Given the description of an element on the screen output the (x, y) to click on. 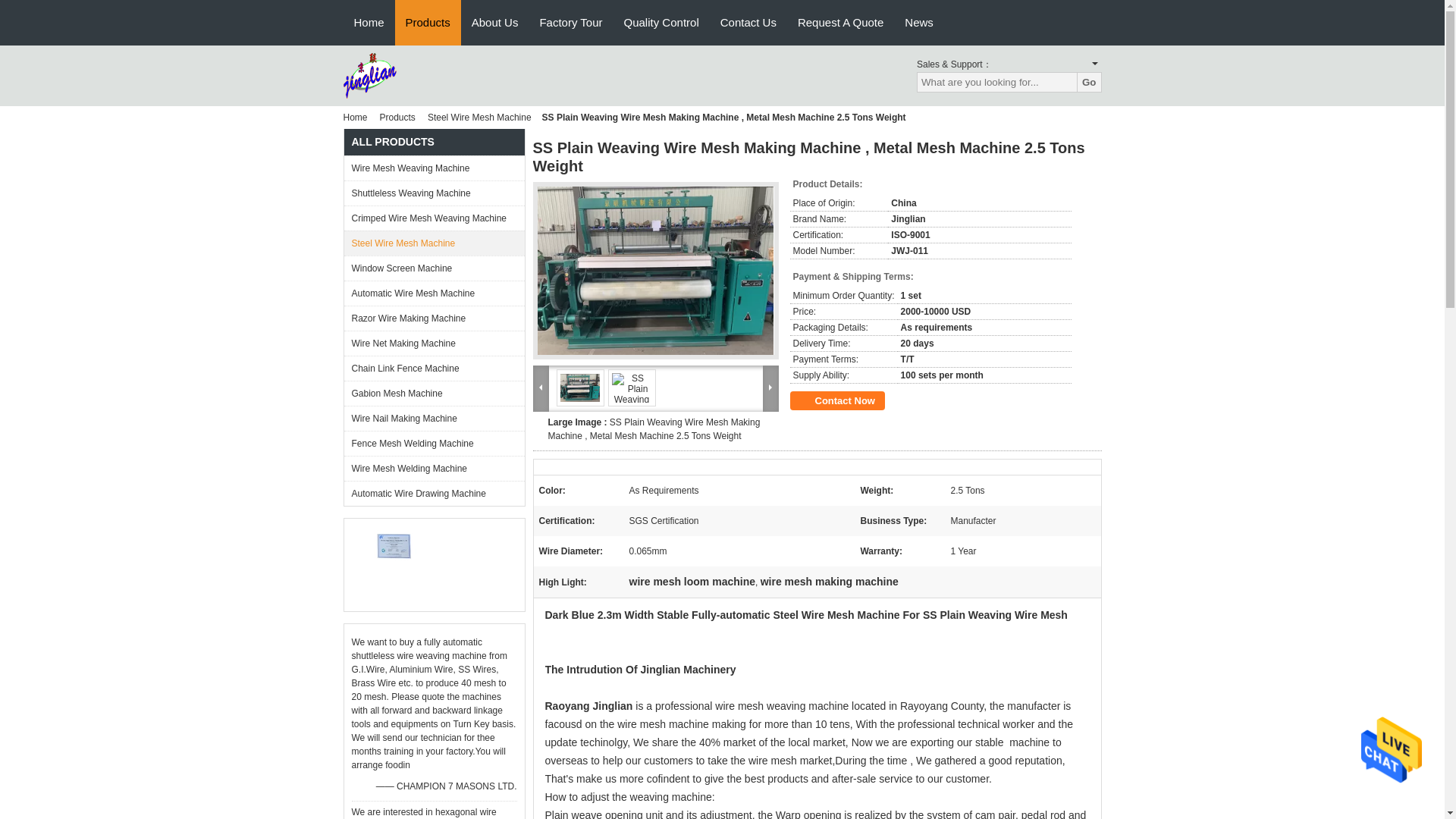
Crimped Wire Mesh Weaving Machine (433, 217)
Quality Control (661, 22)
Steel Wire Mesh Machine (433, 242)
Home (357, 117)
News (918, 22)
Automatic Wire Mesh Machine (433, 292)
Wire Mesh Weaving Machine (433, 167)
Steel Wire Mesh Machine (479, 117)
About Us (495, 22)
Go (1089, 82)
